Given the description of an element on the screen output the (x, y) to click on. 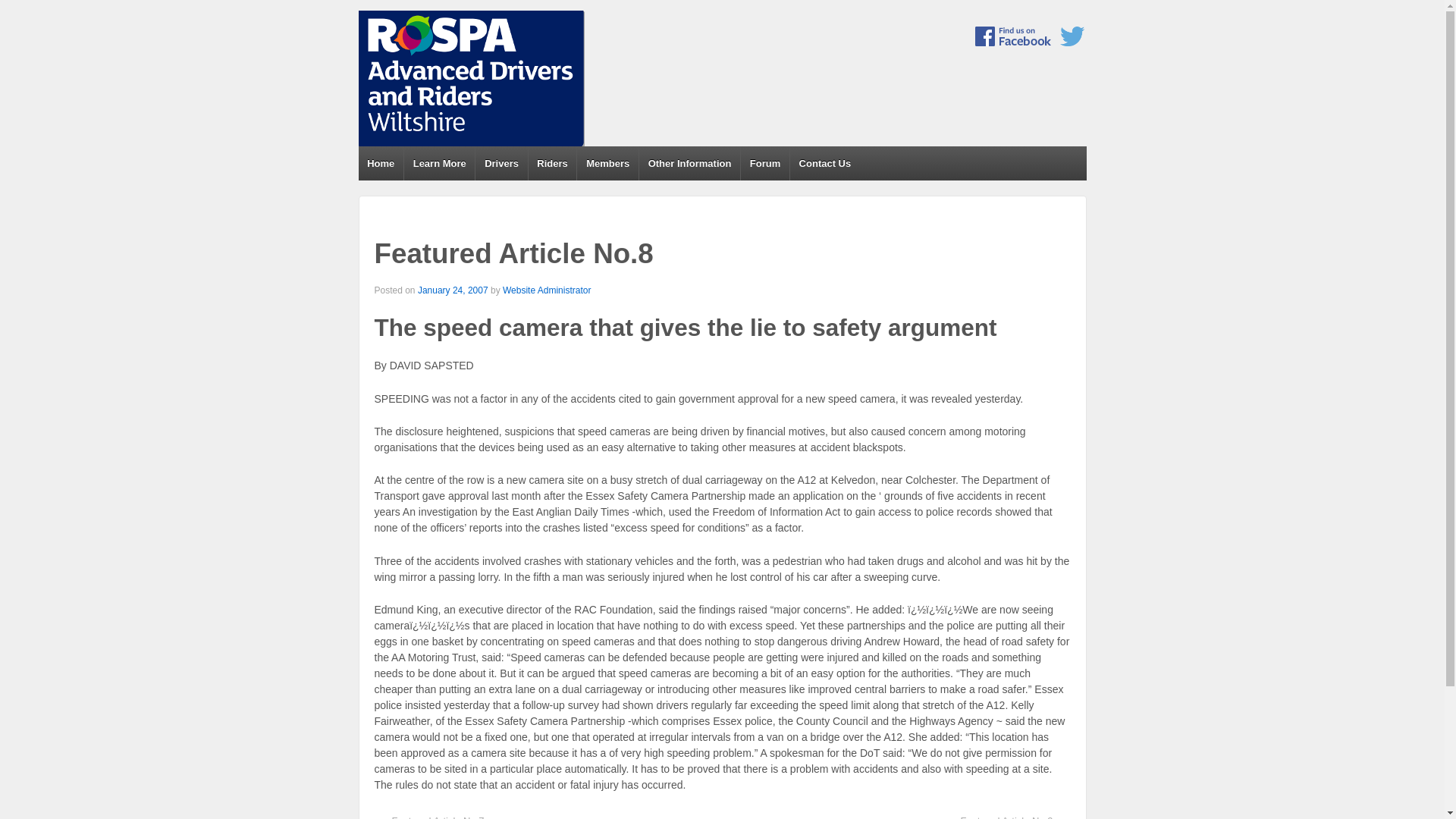
Home (380, 163)
January 24, 2007 (452, 290)
Facebook (1013, 35)
Featured Article No.9 (1005, 815)
Riders (551, 163)
Contact Us (824, 163)
Other Information (689, 163)
Members (606, 163)
Featured Article No.7 (438, 815)
Website Administrator (546, 290)
Twitter (1071, 35)
Drivers (500, 163)
Learn More (438, 163)
View all posts by Website Administrator (546, 290)
Forum (764, 163)
